Given the description of an element on the screen output the (x, y) to click on. 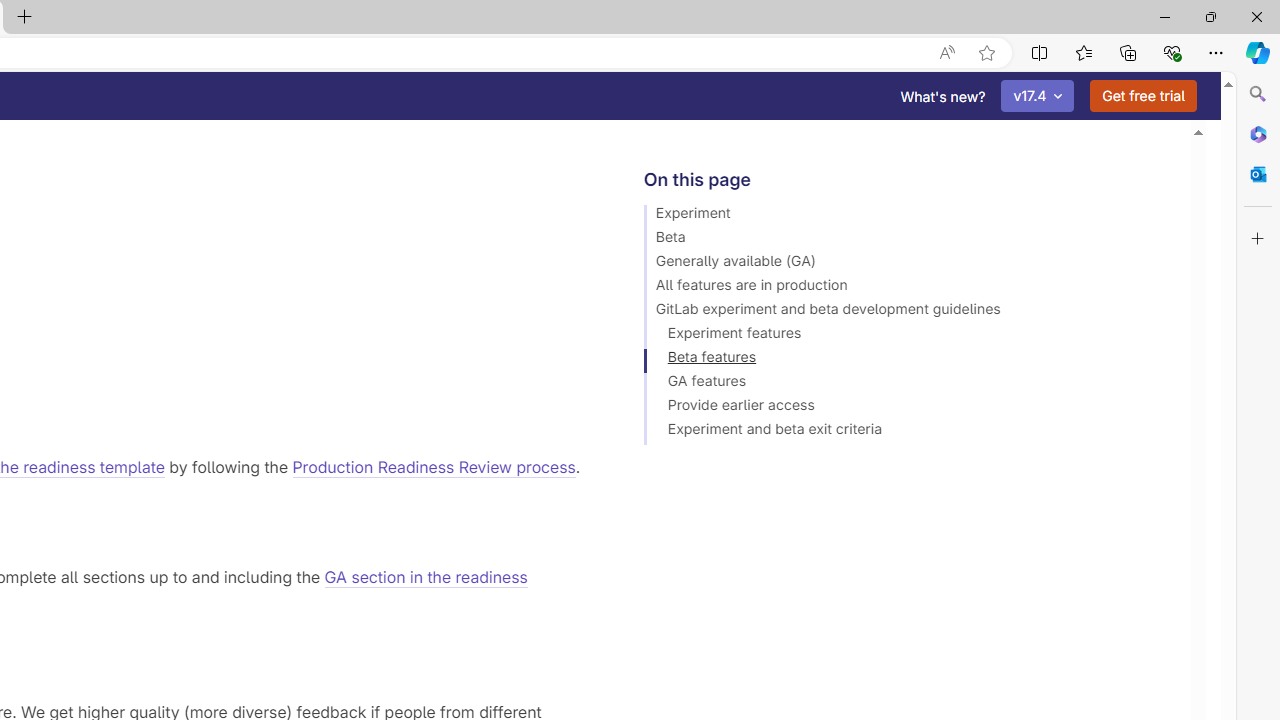
experiment section in the readiness template (186, 84)
All features are in production (908, 287)
Beta features (908, 359)
What's new? (943, 96)
Provide earlier access (908, 408)
Experiment (908, 215)
Get free trial (1143, 95)
GA features (908, 384)
What's new? (943, 96)
